Given the description of an element on the screen output the (x, y) to click on. 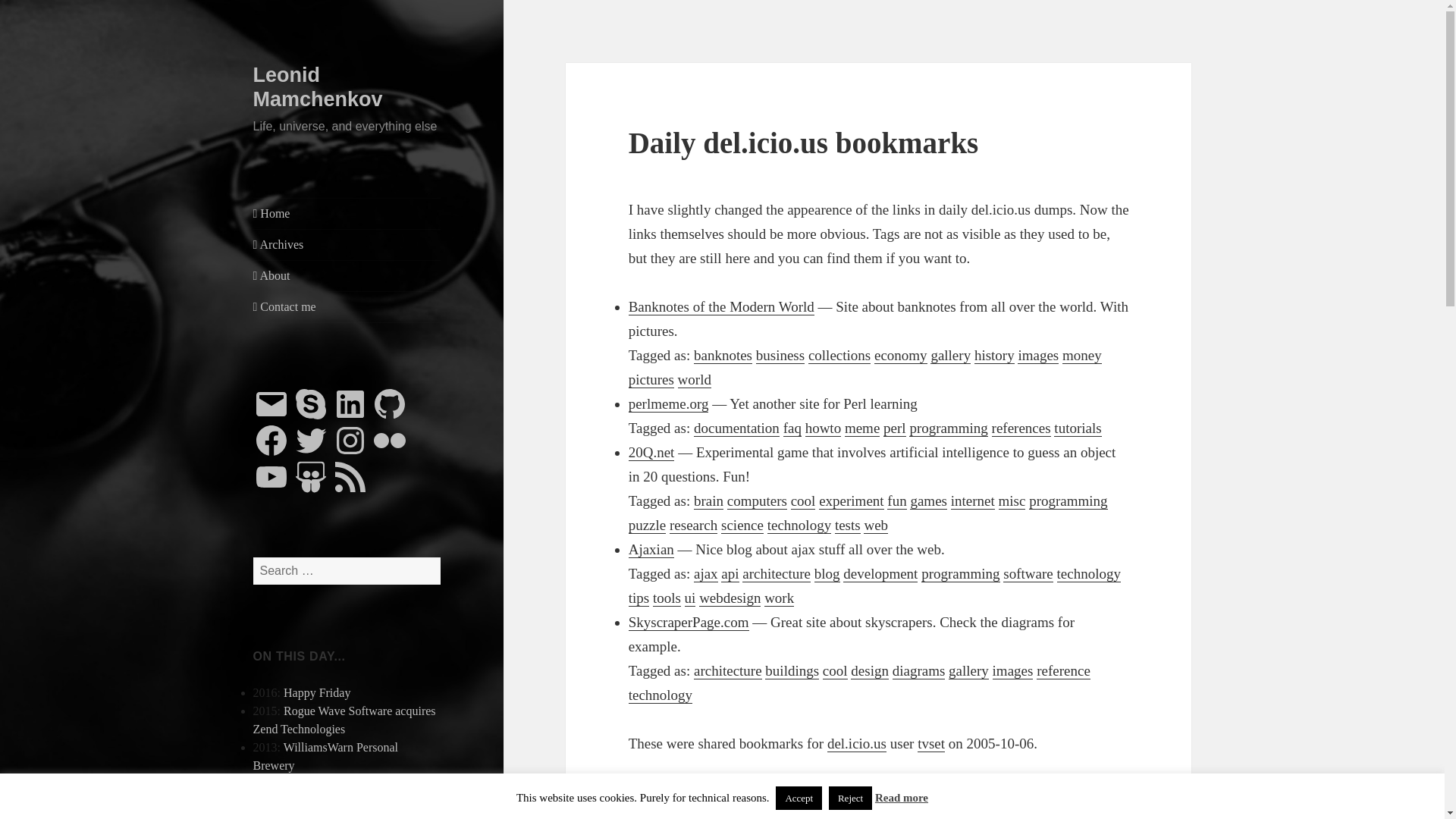
GitHub (389, 403)
Contact me (347, 306)
Twitter (310, 440)
Facebook (271, 440)
RSS Feed (349, 476)
Advertisement (878, 799)
About (347, 276)
Email (271, 403)
SlideShare (310, 476)
Leonid Mamchenkov (317, 86)
Archives (347, 245)
LinkedIn (349, 403)
YouTube (271, 476)
